Given the description of an element on the screen output the (x, y) to click on. 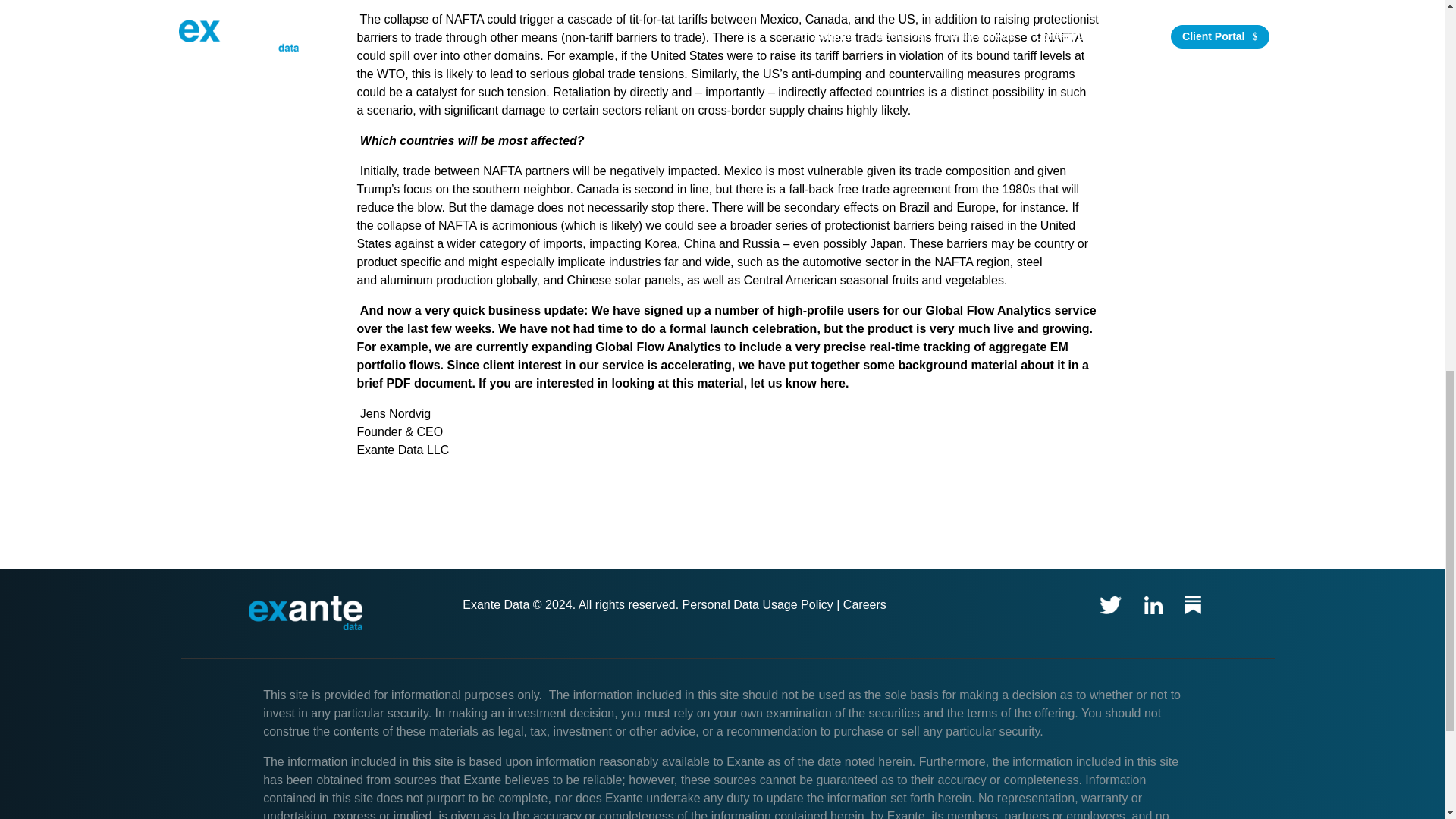
Icon awesome-linkedin-in (1152, 605)
Personal Data Usage Policy (757, 604)
exante-blue-white-logo (305, 612)
Icon awesome-twitter (1110, 605)
Careers (864, 604)
